Given the description of an element on the screen output the (x, y) to click on. 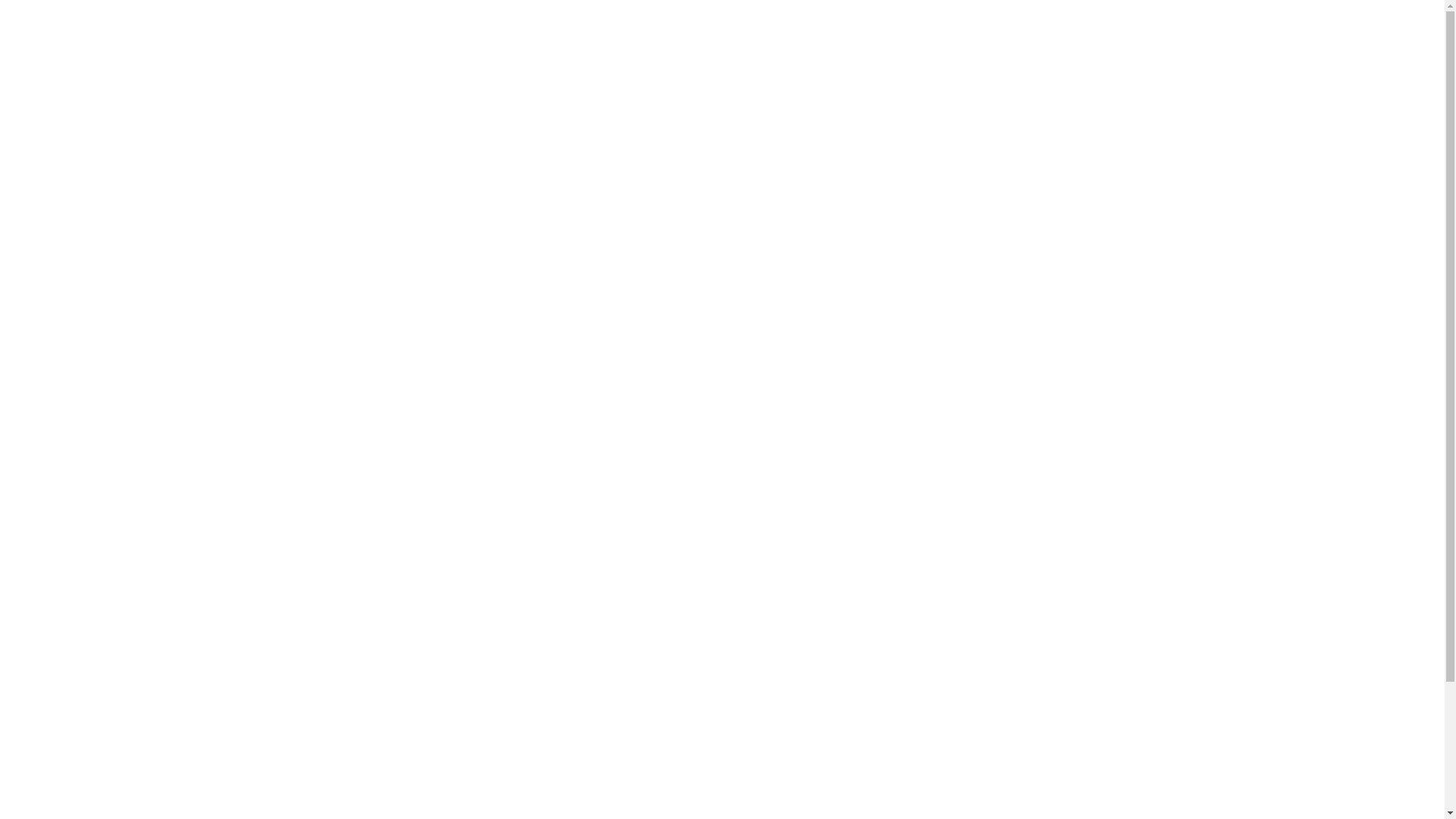
PRAKTISCH Element type: text (797, 73)
TOVER MET TALENT Element type: text (581, 73)
WIE ZIJN WE Element type: text (368, 73)
INFOMOMENTEN Element type: text (701, 73)
STUDIEAANBOD Element type: text (465, 73)
CONTACT Element type: text (876, 73)
